Given the description of an element on the screen output the (x, y) to click on. 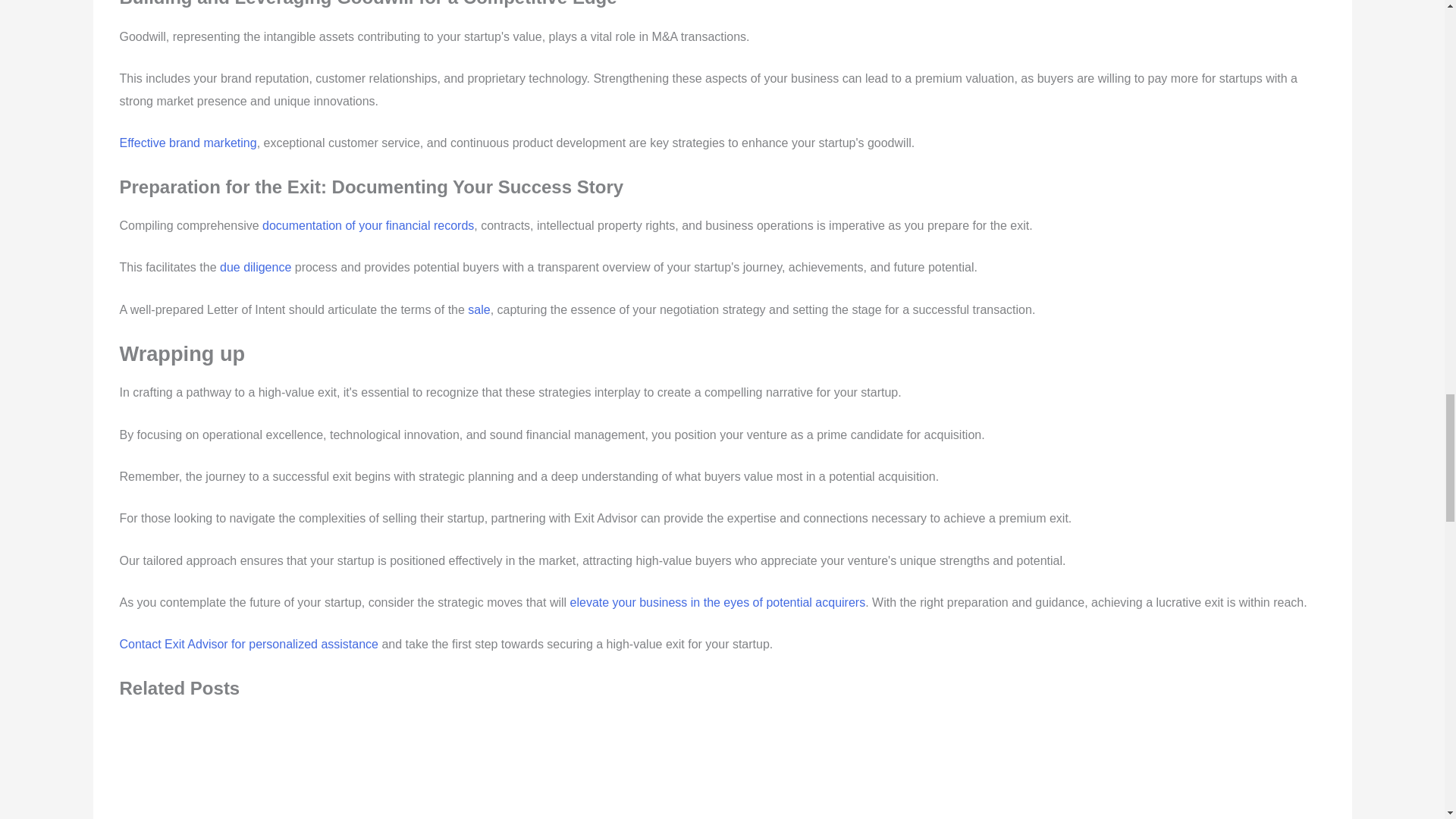
sale (478, 309)
due diligence (255, 267)
sale (478, 309)
due diligence (255, 267)
documentation of your financial records (368, 225)
Effective brand marketing (188, 142)
elevate your business in the eyes of potential acquirers (718, 602)
Contact Exit Advisor for personalized assistance (248, 644)
